Given the description of an element on the screen output the (x, y) to click on. 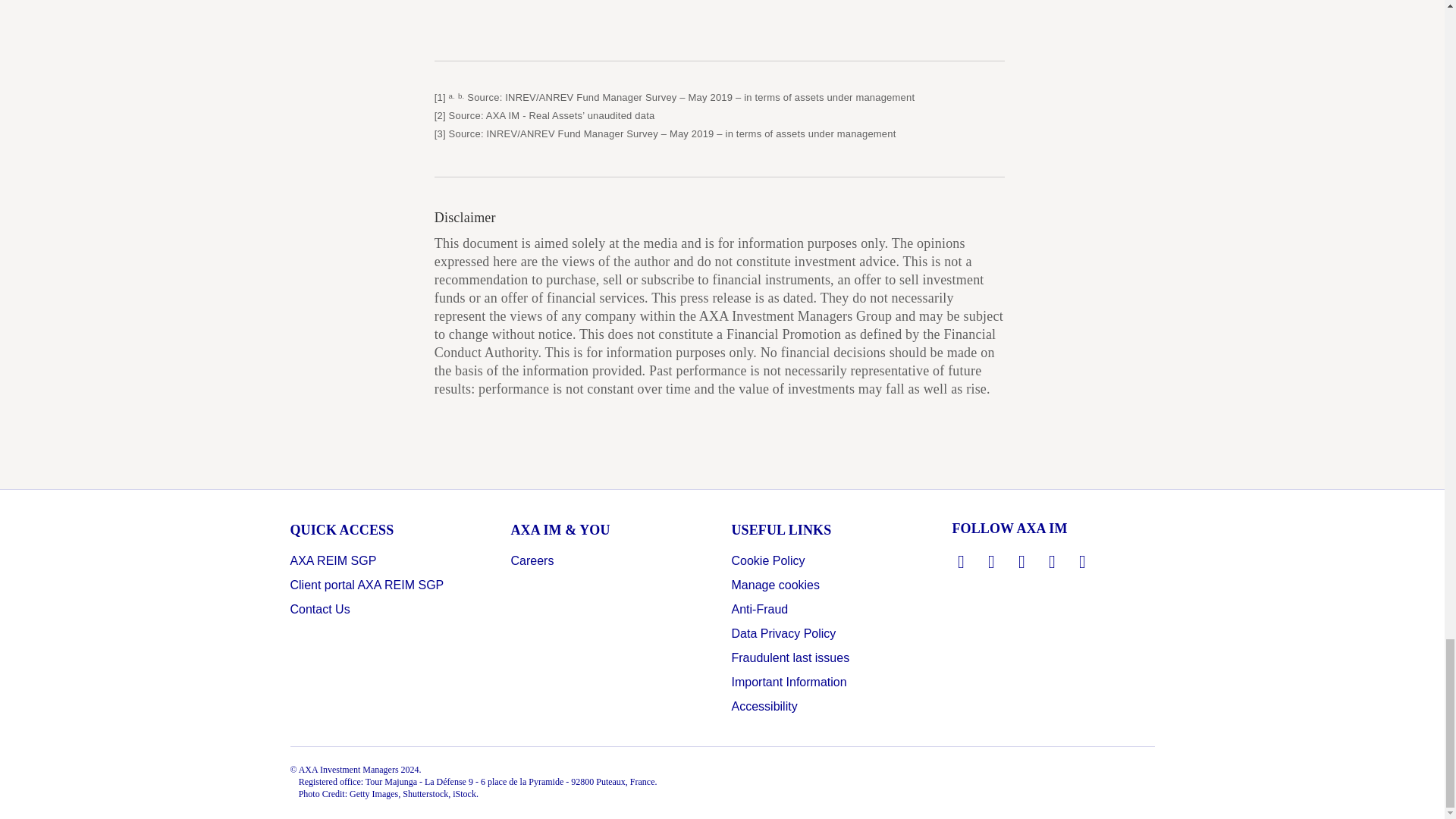
Client portal AXA REIM SGP - New window (366, 585)
Follow us on Youtube - New window (1052, 561)
Follow us on LinkedIn - New window (961, 561)
Follow us on X - New window (991, 561)
Follow us on Facebook - New window (1021, 561)
